Given the description of an element on the screen output the (x, y) to click on. 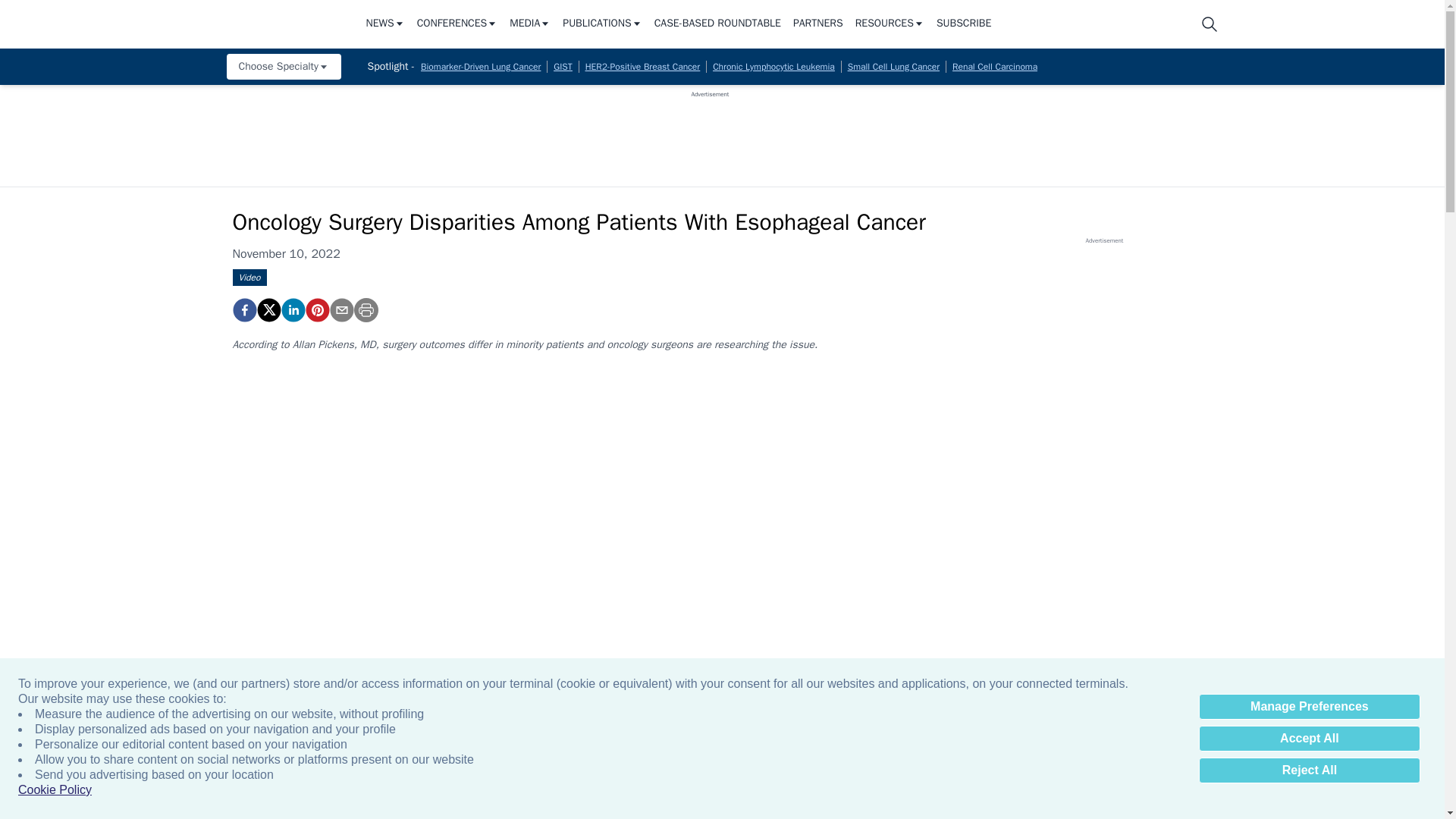
Reject All (1309, 769)
NEWS (384, 23)
Manage Preferences (1309, 706)
3rd party ad content (709, 132)
Accept All (1309, 738)
CASE-BASED ROUNDTABLE (716, 23)
PUBLICATIONS (602, 23)
MEDIA (529, 23)
